Given the description of an element on the screen output the (x, y) to click on. 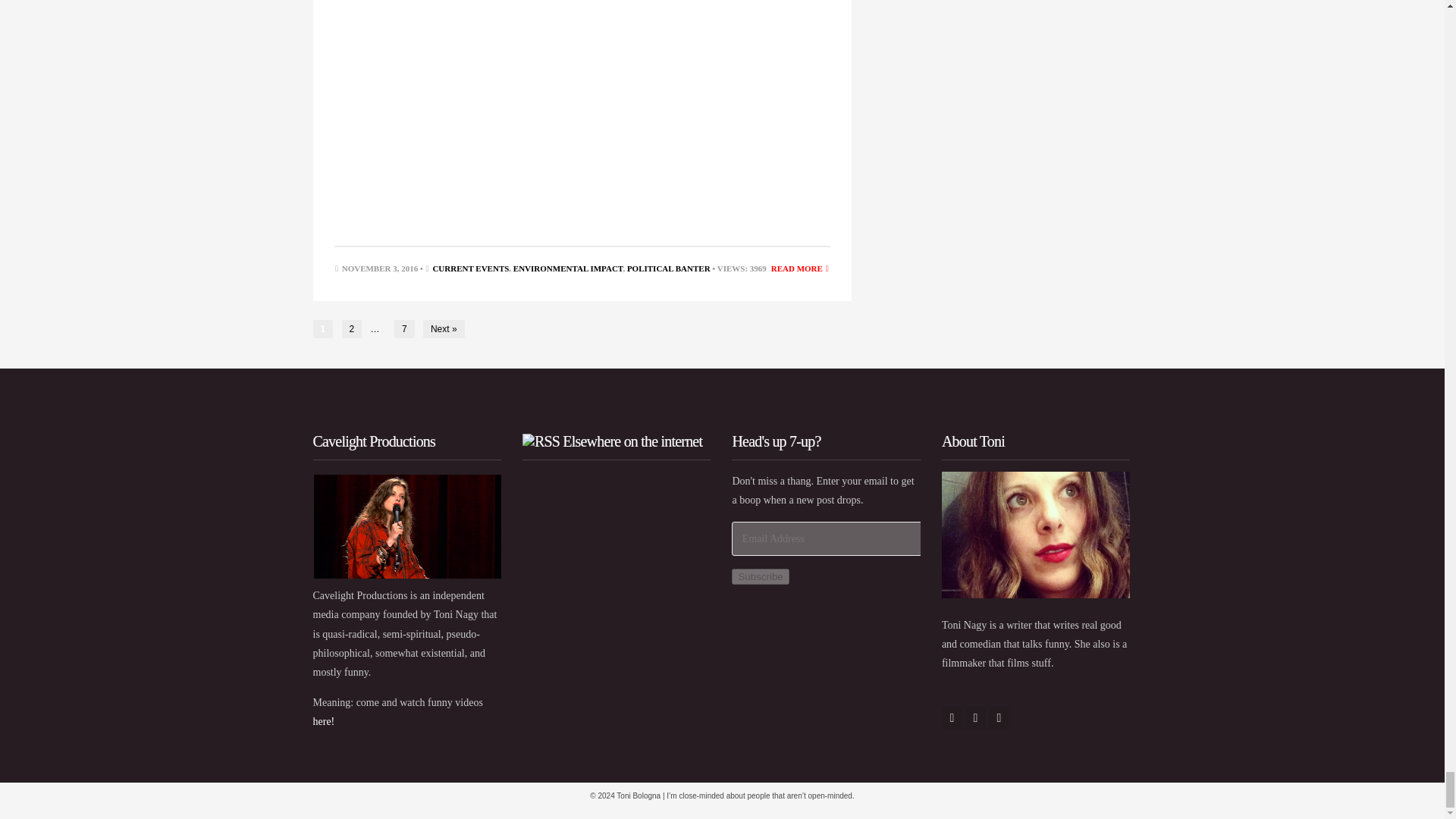
Facebook (952, 717)
